Given the description of an element on the screen output the (x, y) to click on. 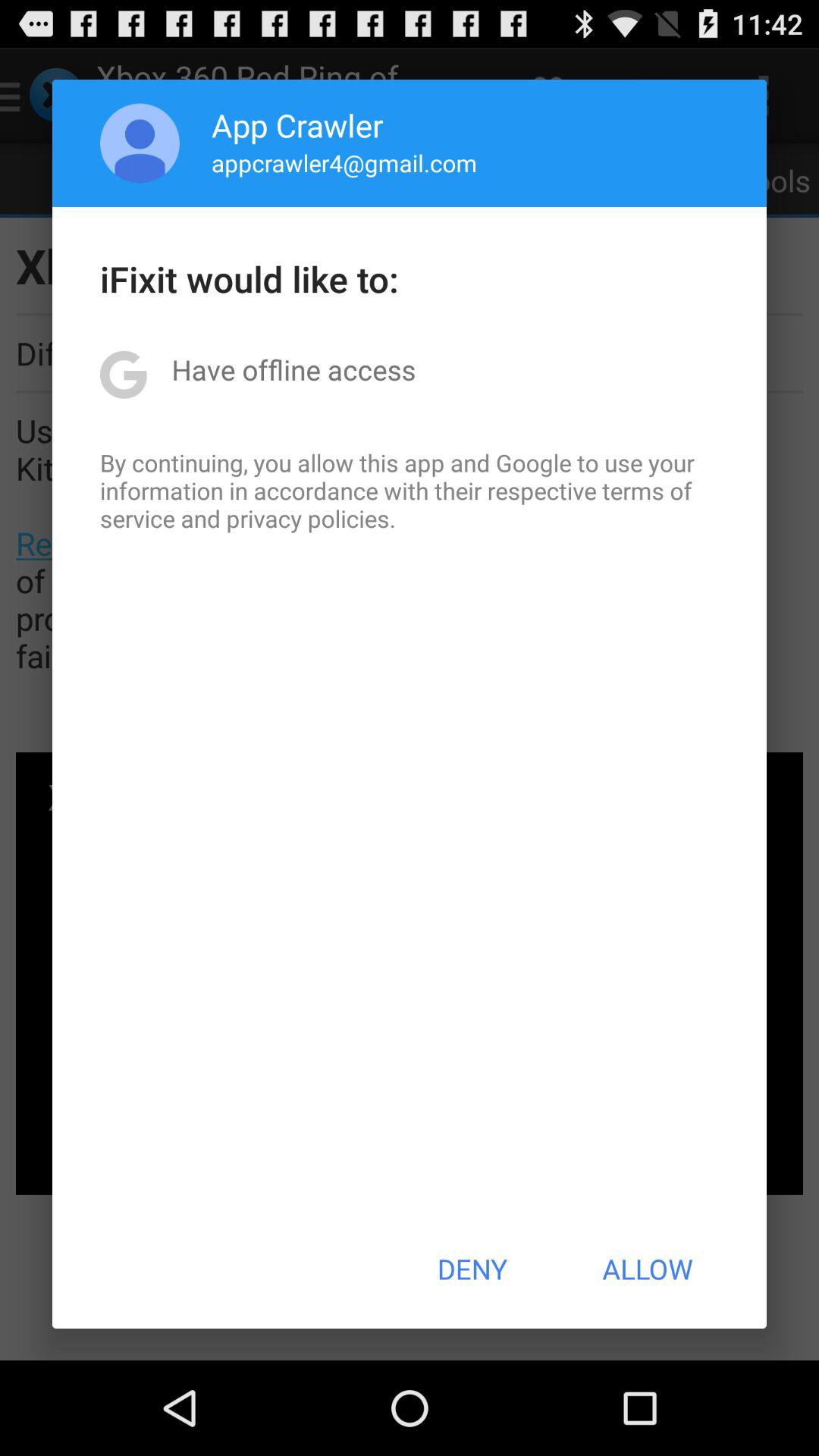
tap the have offline access item (293, 369)
